Given the description of an element on the screen output the (x, y) to click on. 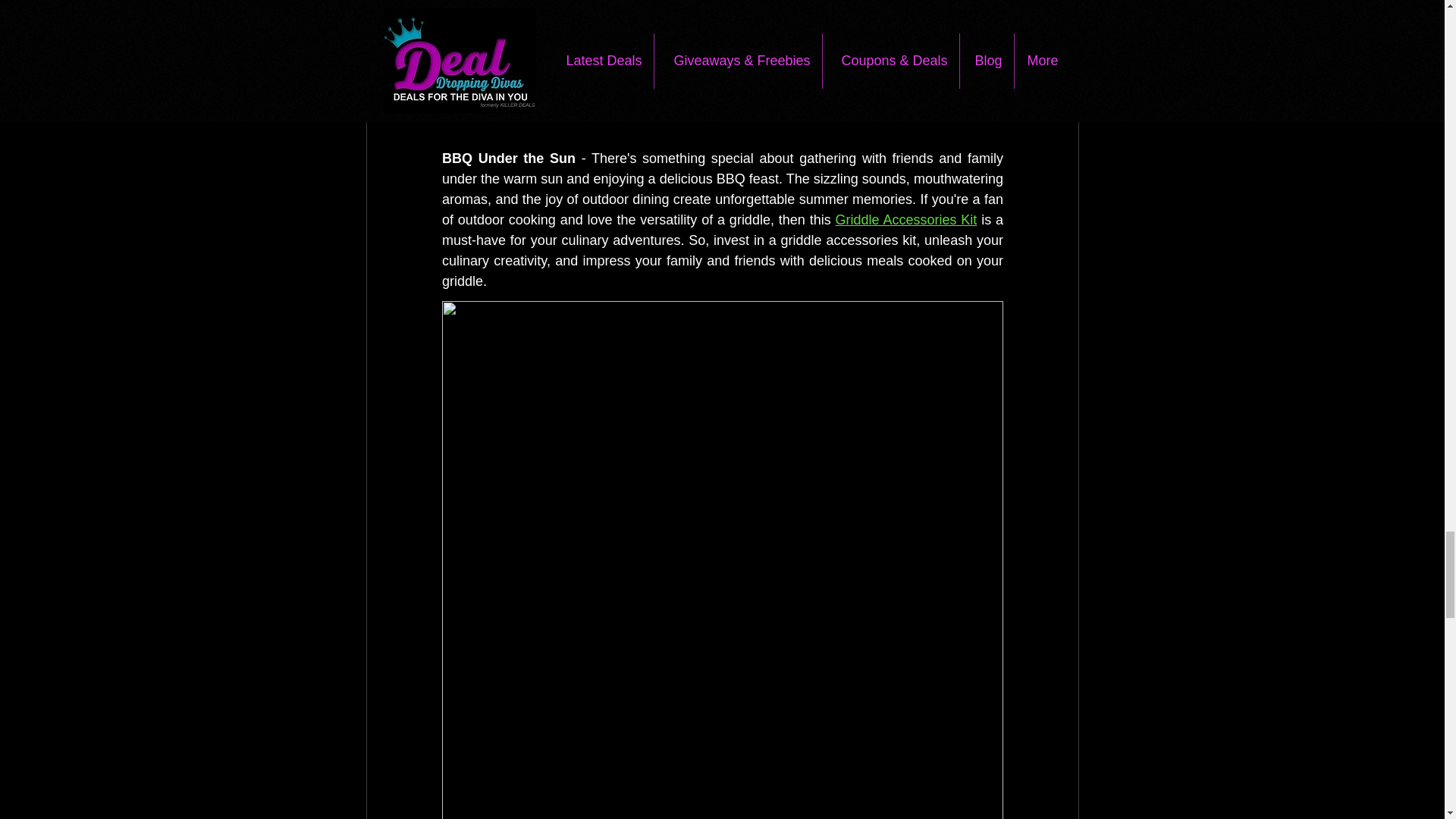
Griddle Accessories Kit (905, 219)
